Given the description of an element on the screen output the (x, y) to click on. 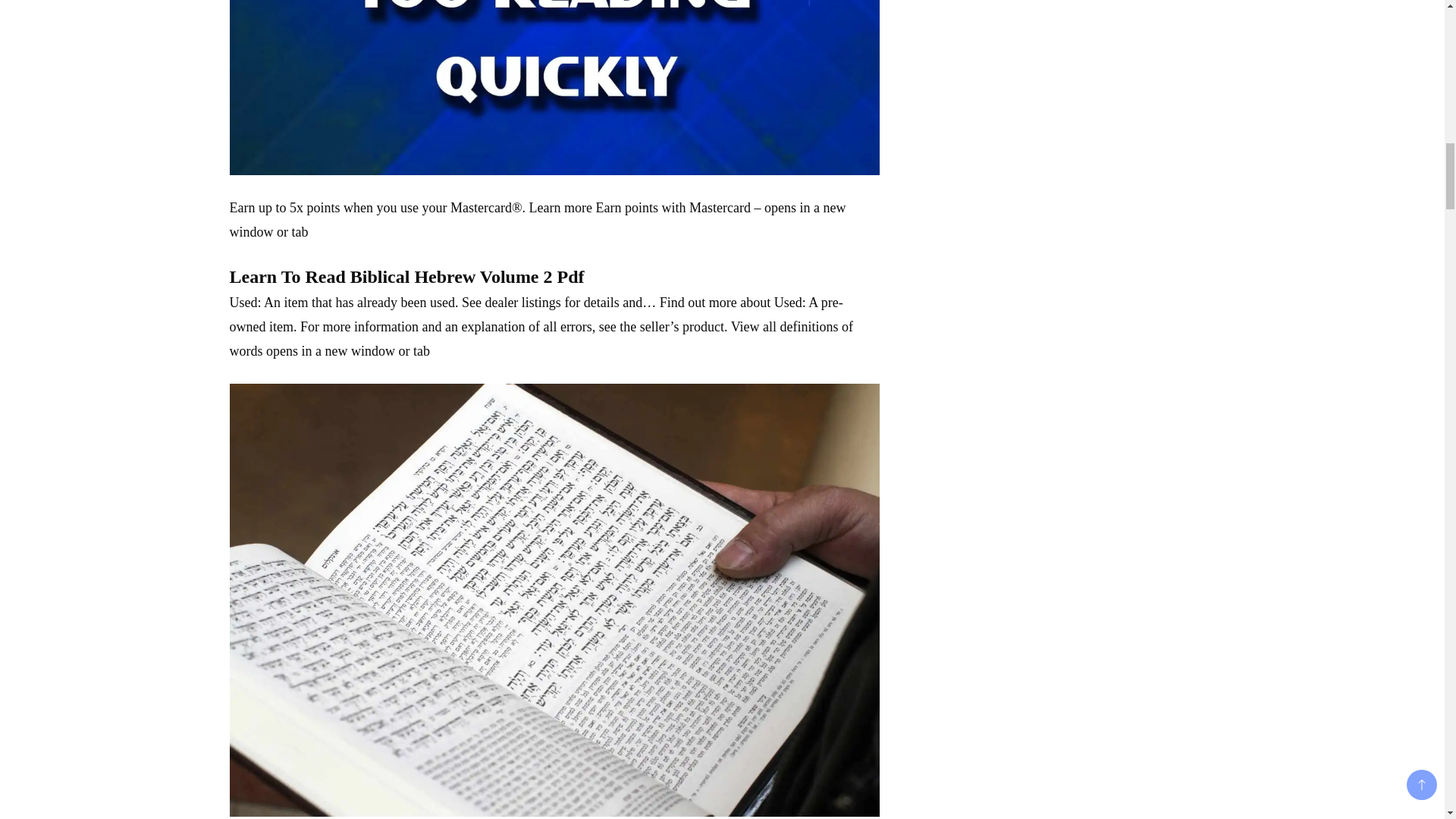
Learn To Read In Hebrew (553, 87)
